Given the description of an element on the screen output the (x, y) to click on. 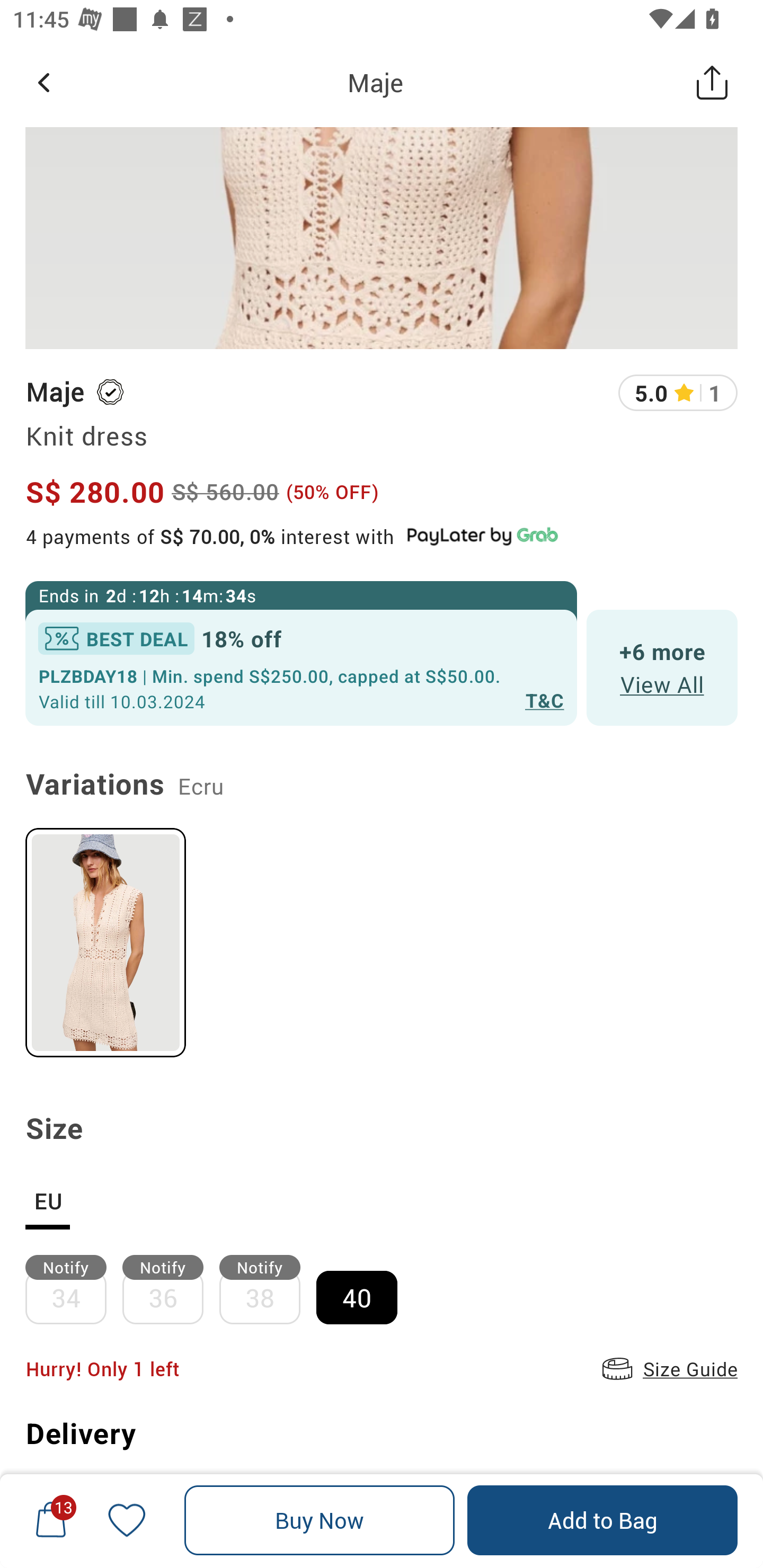
Maje (375, 82)
Share this Product (711, 82)
Maje (54, 391)
5.0 1 (677, 392)
+6 more
View All (661, 667)
T&C (544, 699)
Notify 34 (73, 1289)
Notify 36 (170, 1289)
Notify 38 (267, 1289)
40 (364, 1289)
Size Guide (667, 1368)
Buy Now (319, 1519)
Add to Bag (601, 1519)
13 (50, 1520)
